Given the description of an element on the screen output the (x, y) to click on. 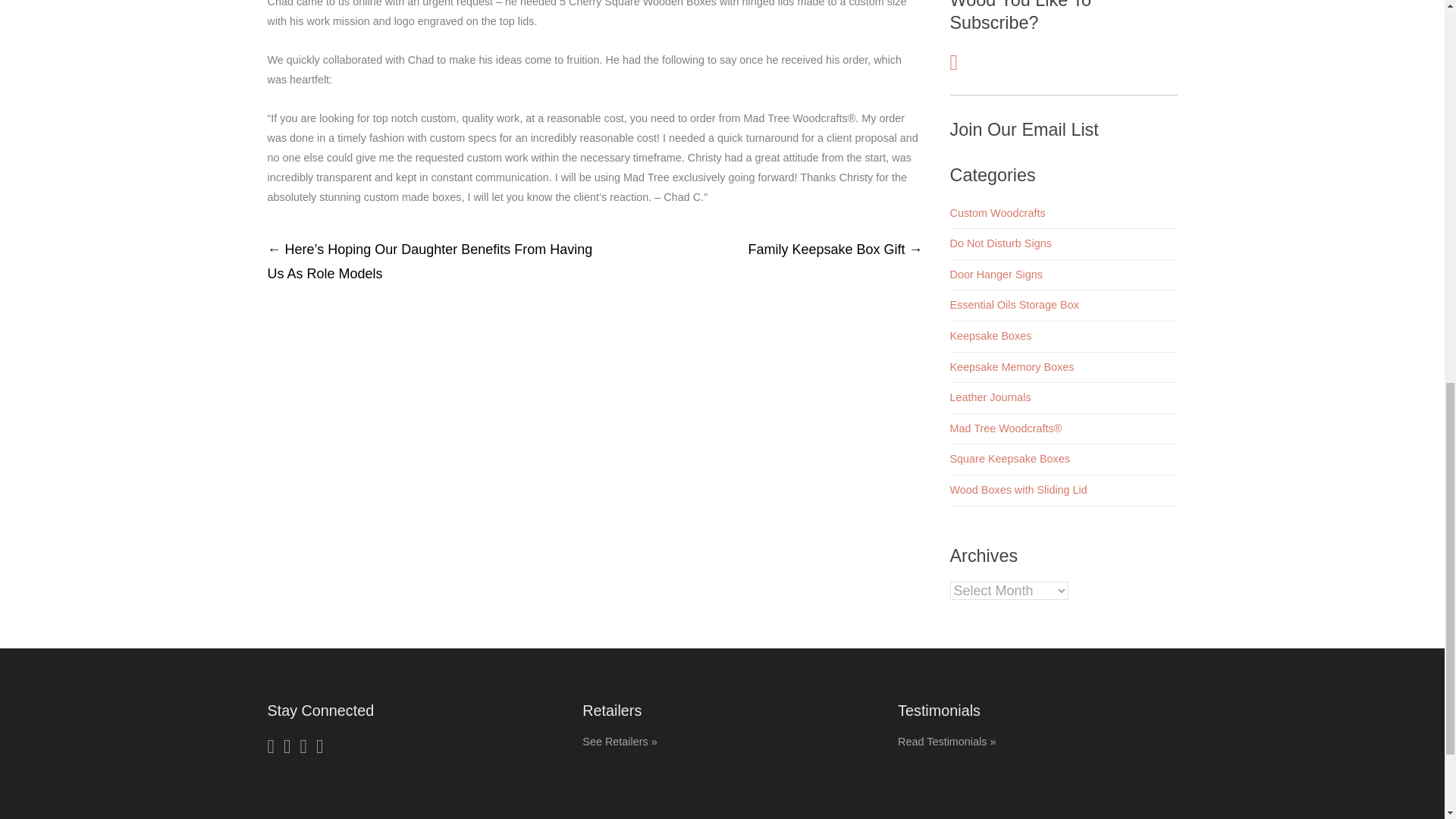
Do Not Disturb Signs (1000, 243)
Essential Oils Storage Box (1013, 304)
Door Hanger Signs (995, 274)
Keepsake Boxes (989, 336)
Custom Woodcrafts (997, 213)
